Given the description of an element on the screen output the (x, y) to click on. 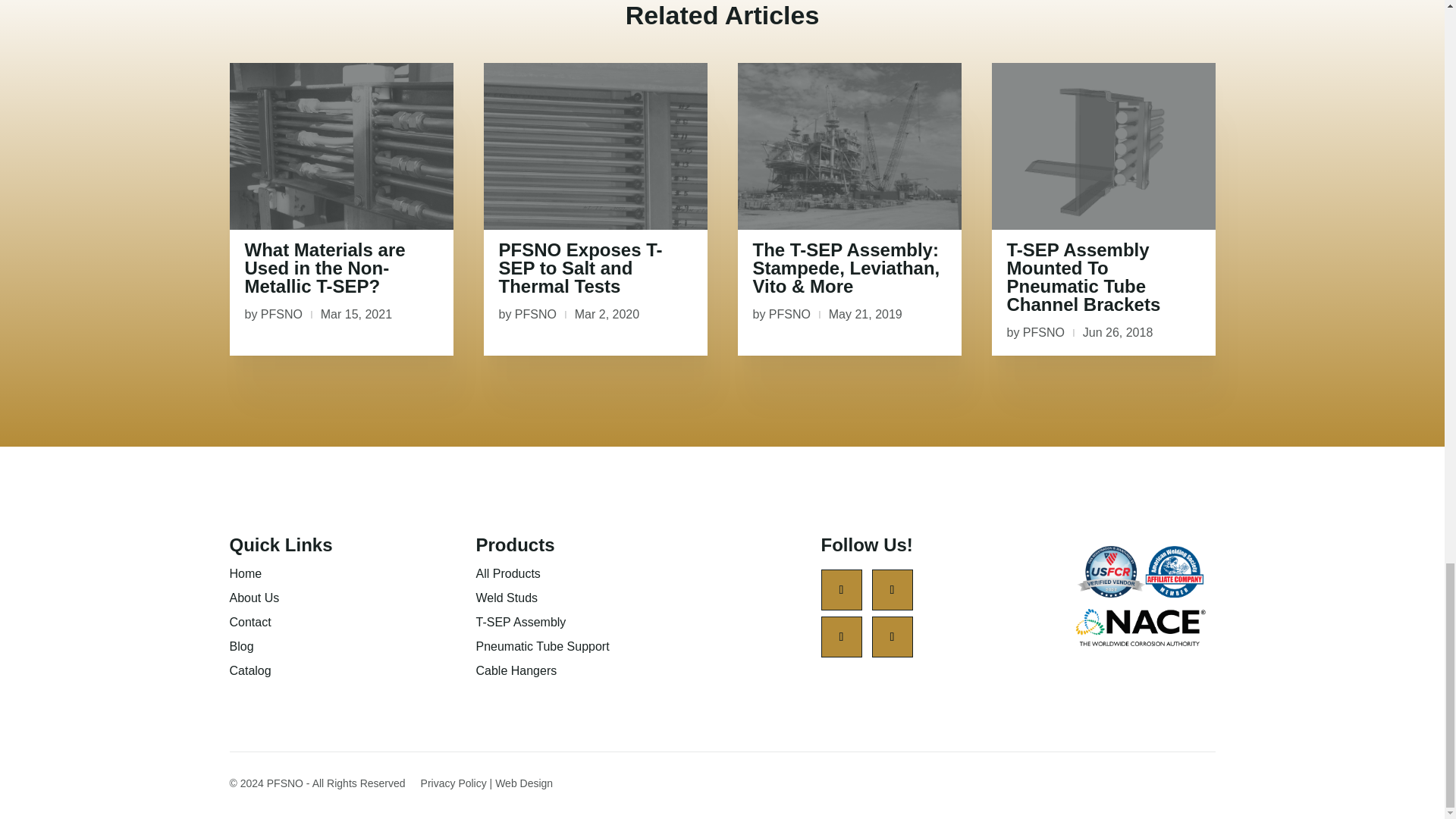
Follow on LinkedIn (892, 636)
Posts by PFSNO (789, 314)
PFS Certifications (1141, 595)
Follow on Youtube (841, 636)
Posts by PFSNO (535, 314)
Posts by PFSNO (281, 314)
Follow on X (892, 589)
Posts by PFSNO (1043, 332)
Follow on Facebook (841, 589)
